Given the description of an element on the screen output the (x, y) to click on. 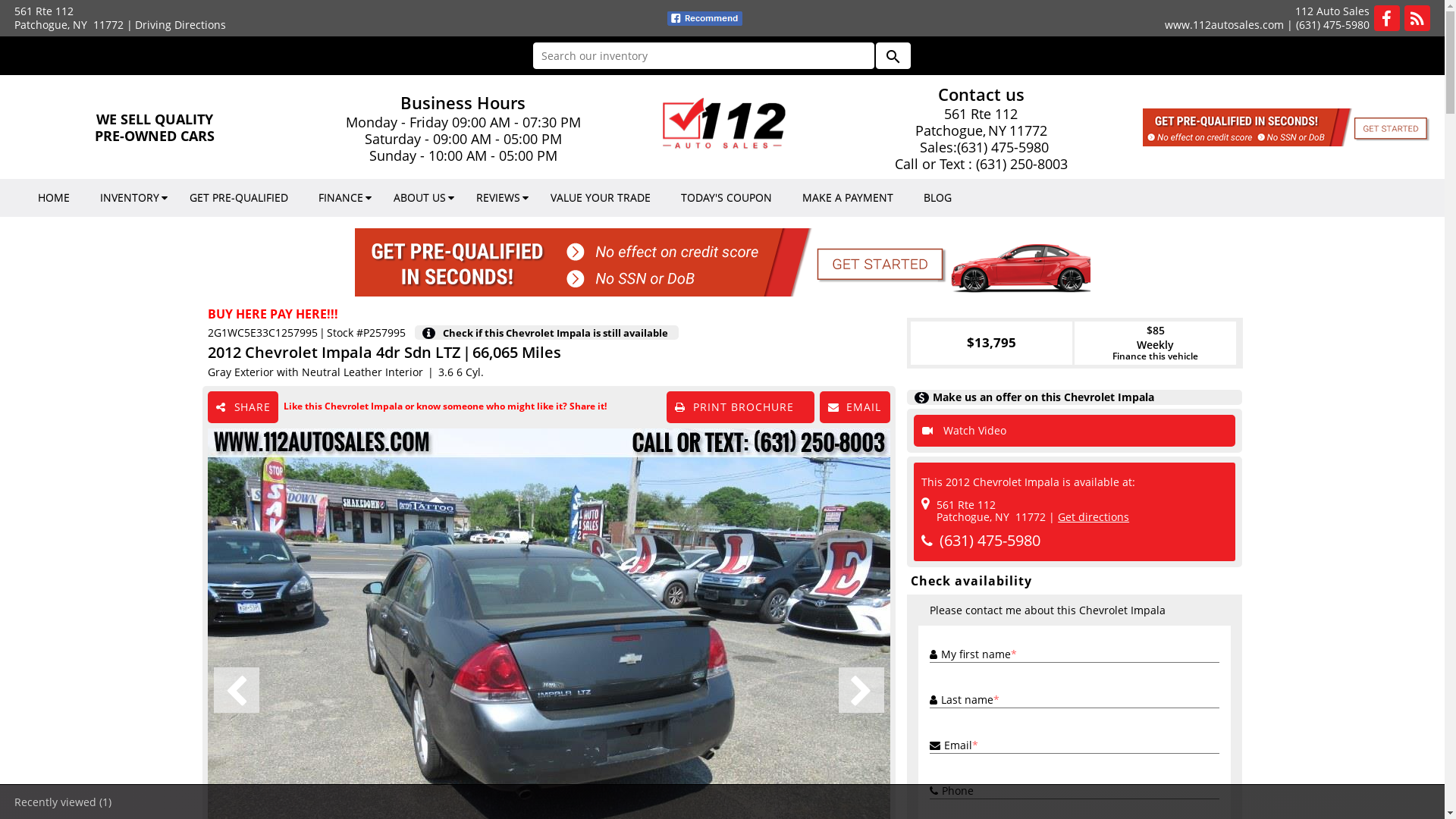
Make us an offer on this Chevrolet Impala Element type: text (1074, 397)
VALUE YOUR TRADE Element type: text (600, 197)
ABOUT US Element type: text (419, 197)
Get Pre-Qualification in Seconds Element type: hover (722, 262)
www.112autosales.com Element type: text (1223, 24)
Get Pre-Qualified Element type: hover (1289, 127)
Check if this Chevrolet Impala is still available Element type: text (558, 332)
EMAIL Element type: text (854, 407)
(631) 475-5980 Element type: text (989, 540)
SHARE Element type: text (242, 407)
search Element type: text (892, 55)
Watch Video Element type: text (1074, 430)
MAKE A PAYMENT Element type: text (847, 197)
REVIEWS Element type: text (498, 197)
FINANCE Element type: text (340, 197)
Sales:(631) 475-5980 Element type: text (981, 147)
WE SELL QUALITY
PRE-OWNED CARS Element type: text (154, 126)
TODAY'S COUPON Element type: text (726, 197)
GET PRE-QUALIFIED Element type: text (238, 197)
Search our inventory Element type: hover (702, 55)
BLOG Element type: text (937, 197)
PRINT BROCHURE Element type: text (740, 407)
(631) 475-5980 Element type: text (1332, 24)
Driving Directions Element type: text (179, 24)
HOME Element type: text (53, 197)
INVENTORY Element type: text (129, 197)
Get directions Element type: text (1093, 516)
fb recommend Element type: hover (704, 18)
